Given the description of an element on the screen output the (x, y) to click on. 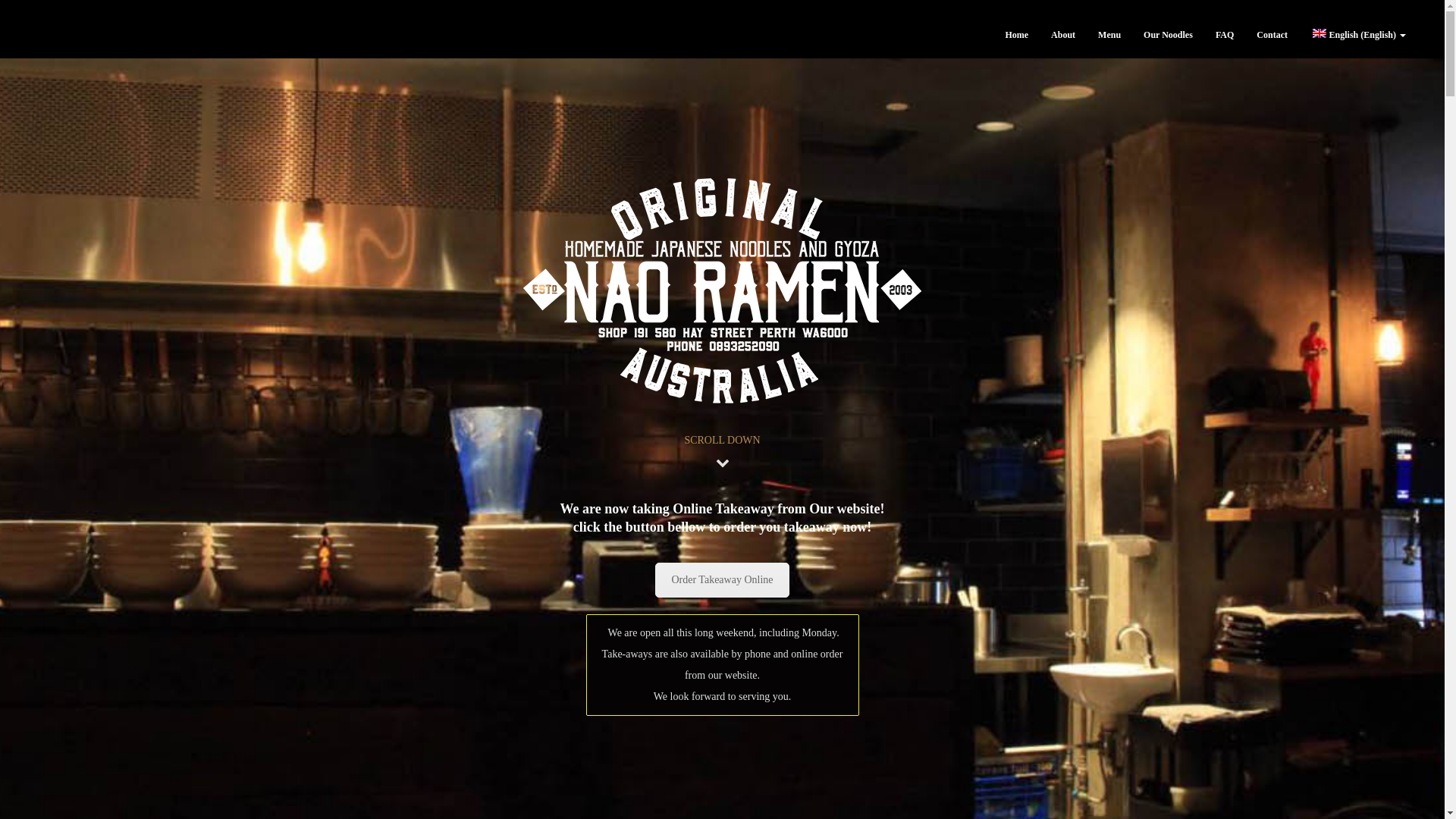
 English (English) Element type: text (1358, 34)
Home Element type: text (1016, 34)
Contact Element type: text (1272, 34)
About Element type: text (1062, 34)
FAQ Element type: text (1224, 34)
SCROLL DOWN Element type: text (721, 439)
Our Noodles Element type: text (1168, 34)
Order Takeaway Online Element type: text (721, 579)
Menu Element type: text (1109, 34)
